Given the description of an element on the screen output the (x, y) to click on. 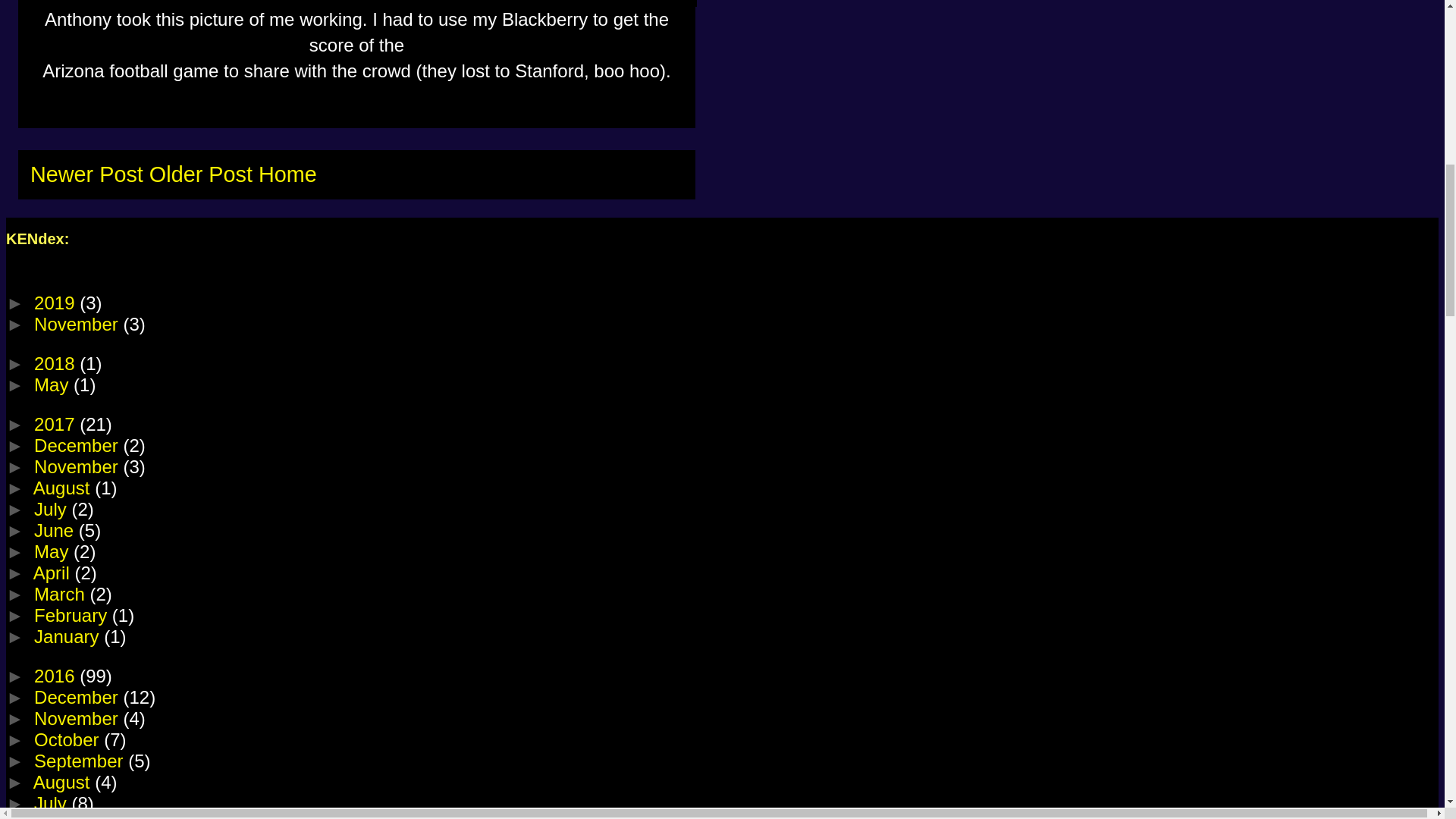
December (77, 444)
Older Post (200, 174)
July (52, 508)
2019 (56, 302)
Newer Post (86, 174)
November (77, 466)
Older Post (200, 174)
August (63, 487)
May (53, 551)
June (55, 530)
